Given the description of an element on the screen output the (x, y) to click on. 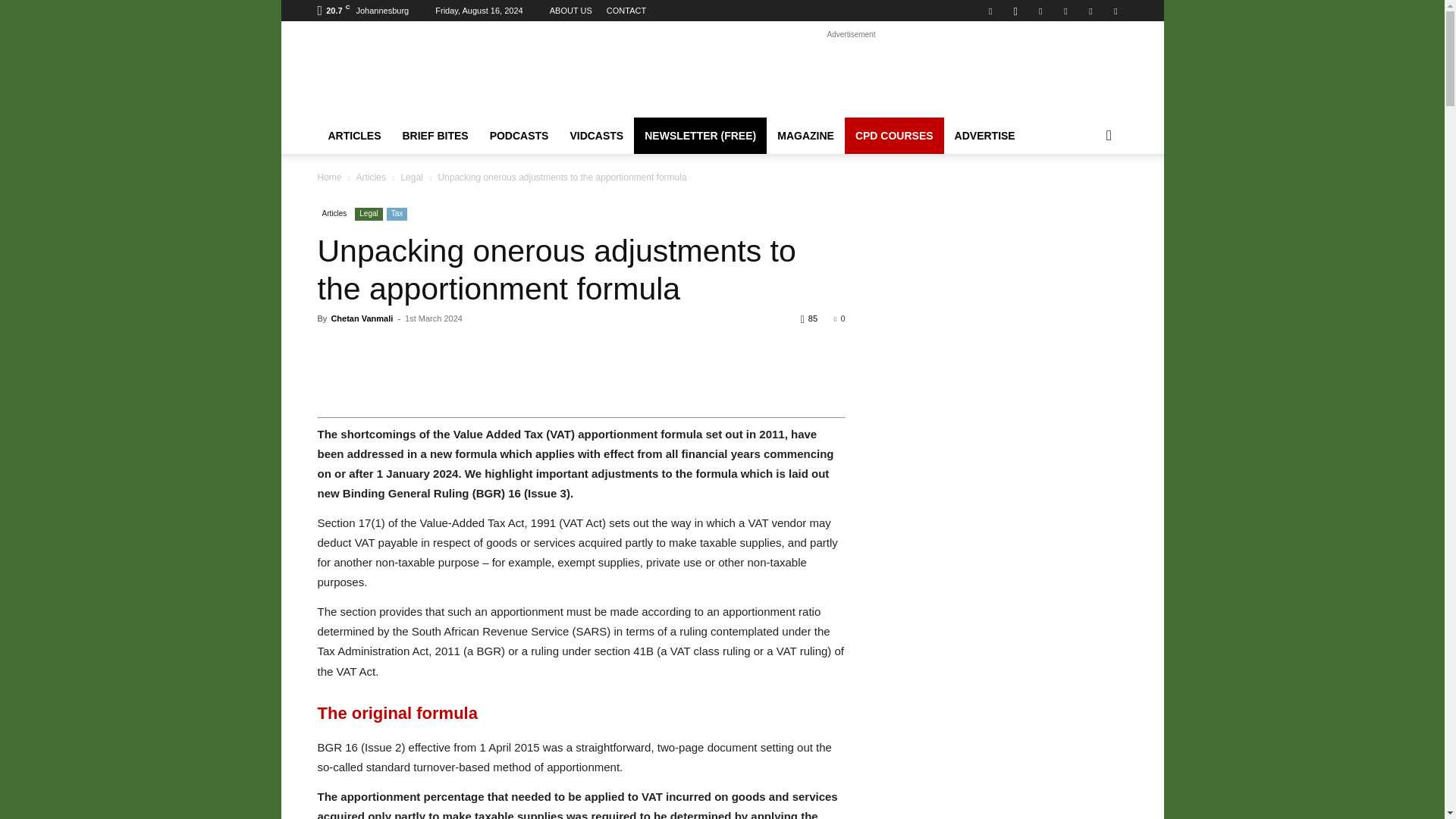
Twitter (1090, 10)
Facebook (989, 10)
Instagram (1015, 10)
Linkedin (1040, 10)
Soundcloud (1065, 10)
Youtube (1114, 10)
